Given the description of an element on the screen output the (x, y) to click on. 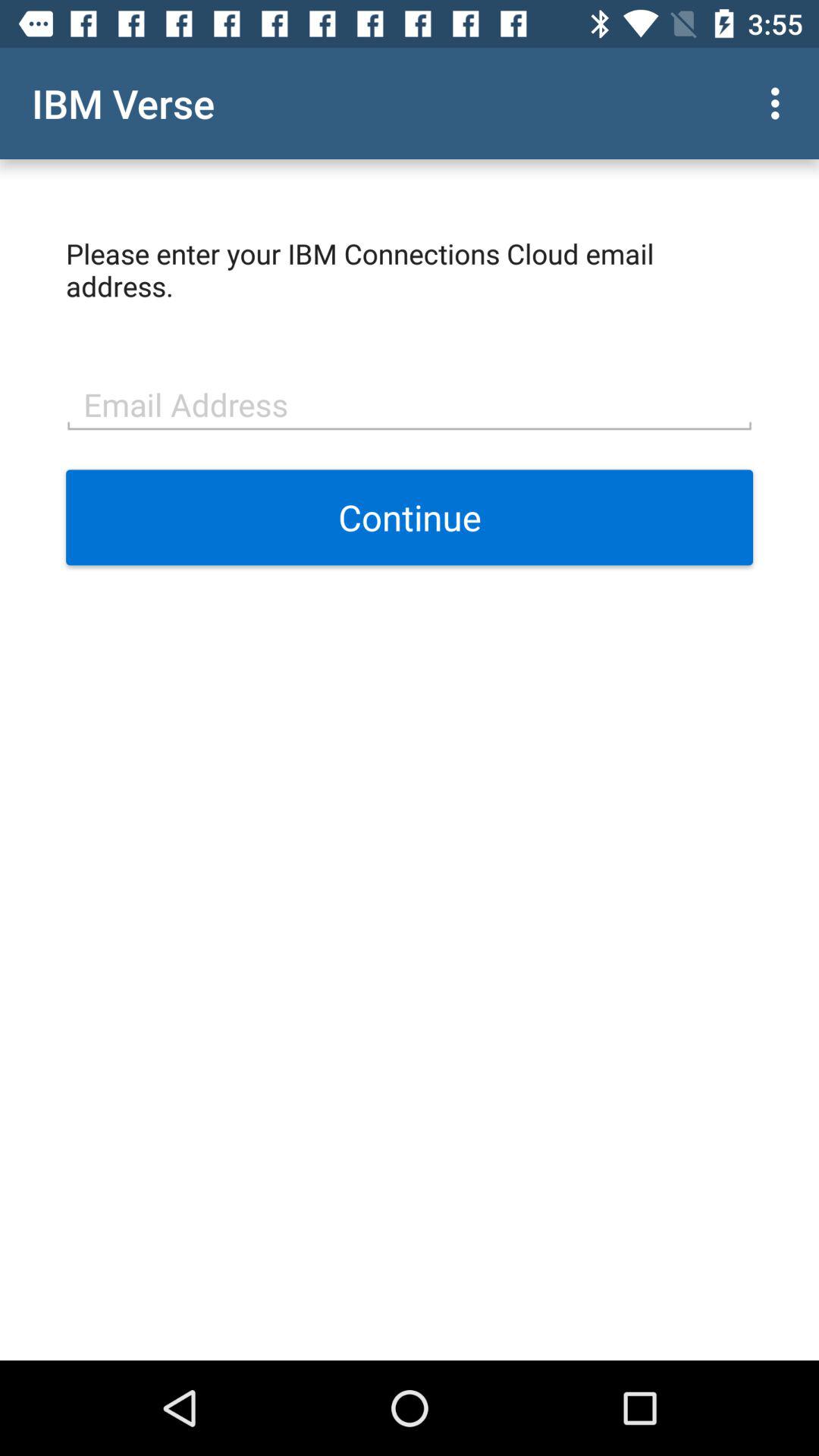
click item above the please enter your item (779, 103)
